Given the description of an element on the screen output the (x, y) to click on. 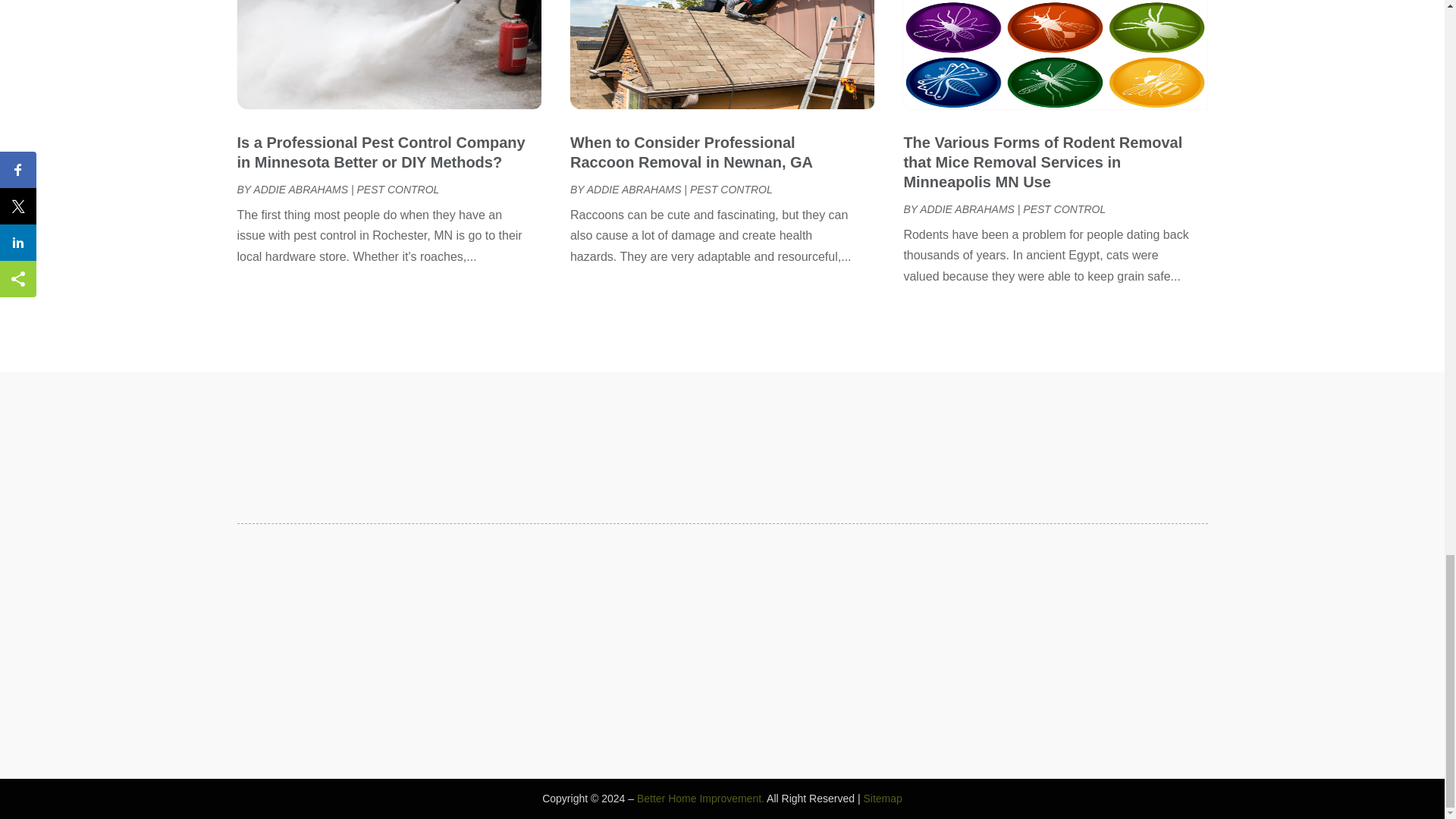
Posts by Addie Abrahams (967, 209)
Posts by Addie Abrahams (300, 189)
Posts by Addie Abrahams (633, 189)
